Given the description of an element on the screen output the (x, y) to click on. 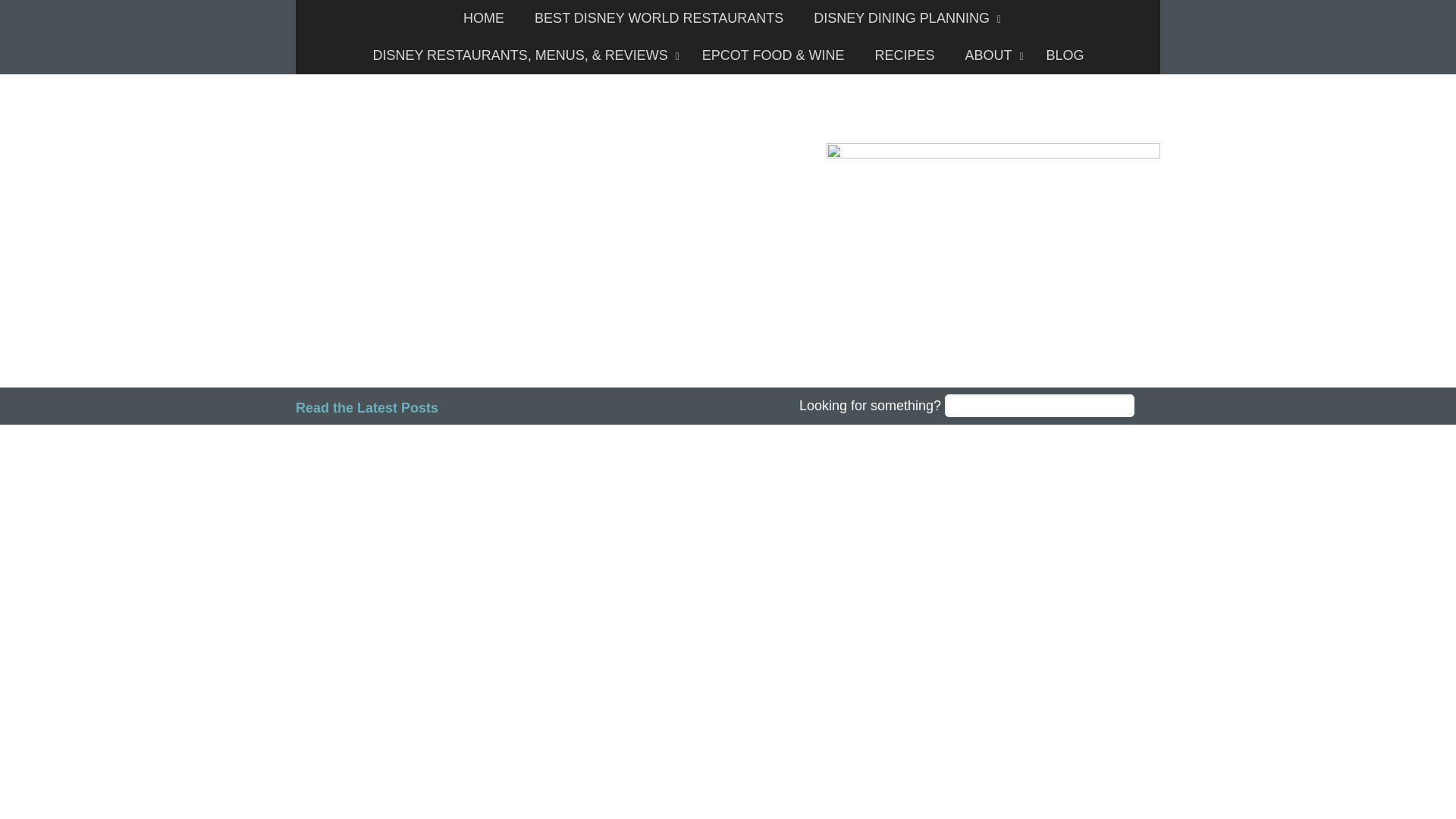
BEST DISNEY WORLD RESTAURANTS (658, 18)
HOME (483, 18)
DISNEY DINING PLANNING (903, 18)
